Given the description of an element on the screen output the (x, y) to click on. 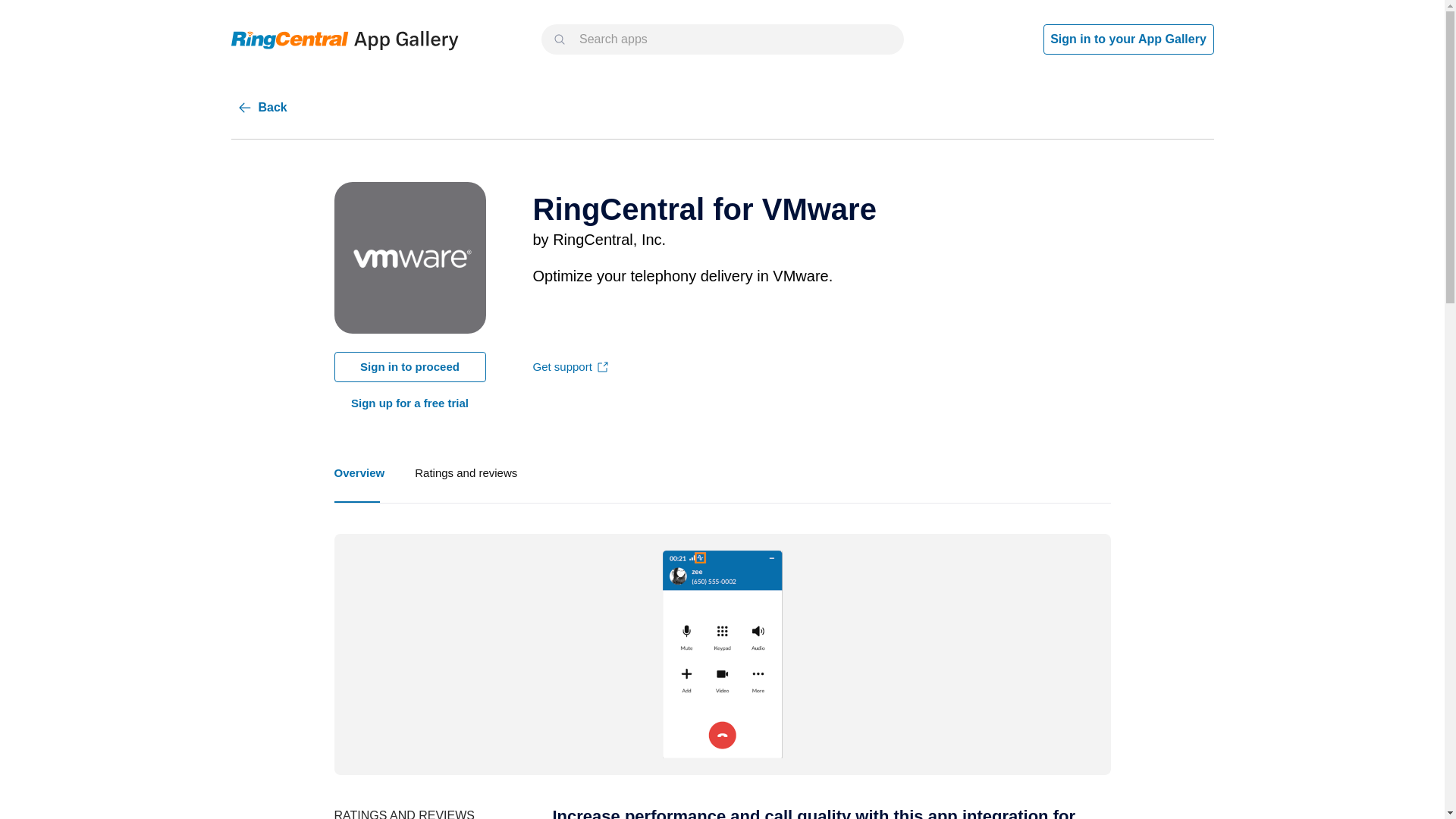
Sign up for a free trial (409, 402)
Get support (561, 366)
Sign in to proceed (408, 367)
by RingCentral, Inc. (721, 472)
Sign up for a free trial (598, 239)
Sign in to your App Gallery (408, 403)
Back (1128, 39)
Ratings and reviews (261, 107)
Get support (465, 473)
RingCentral for VMware (570, 366)
